Given the description of an element on the screen output the (x, y) to click on. 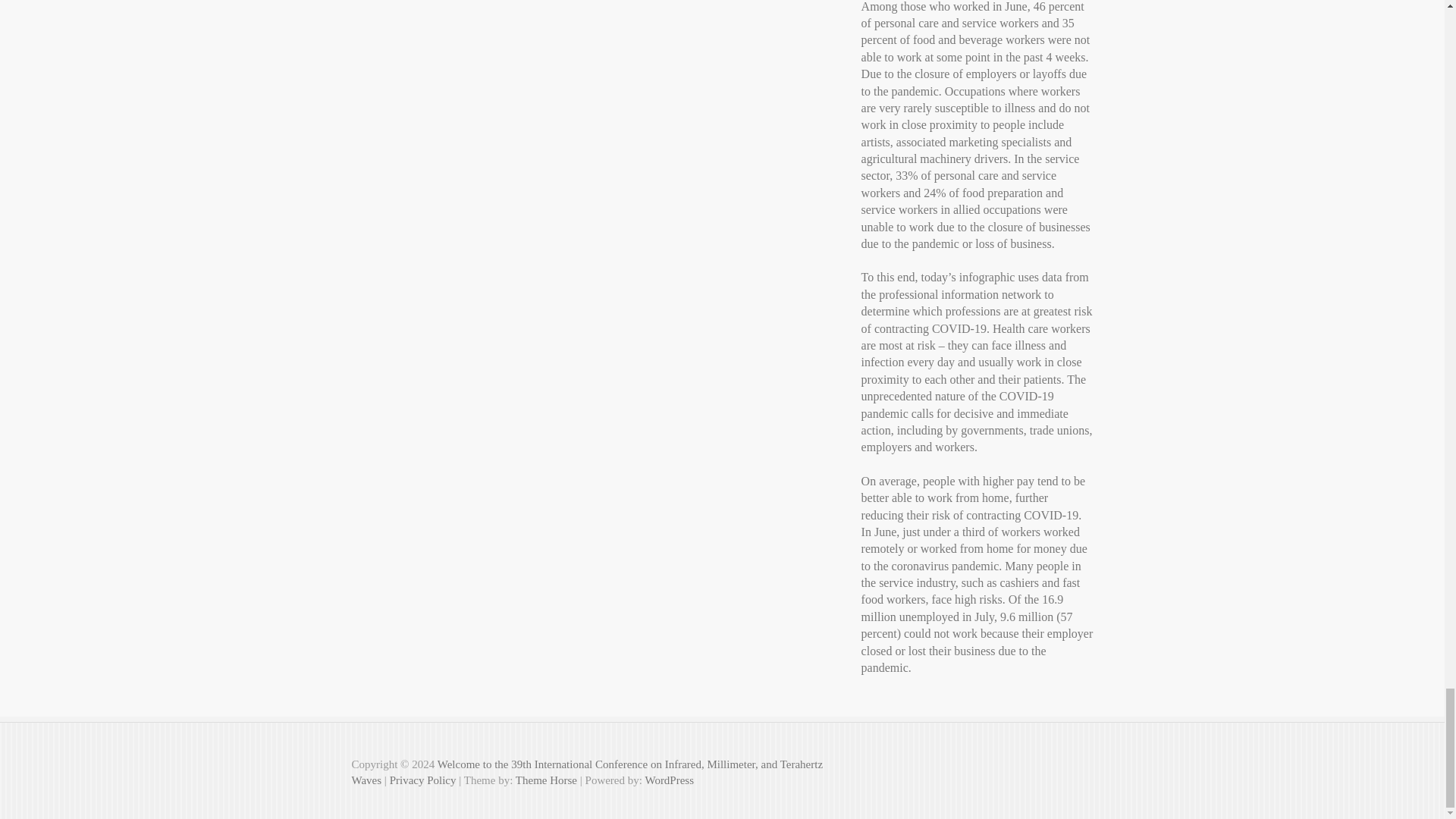
WordPress (669, 779)
Theme Horse (545, 779)
